Given the description of an element on the screen output the (x, y) to click on. 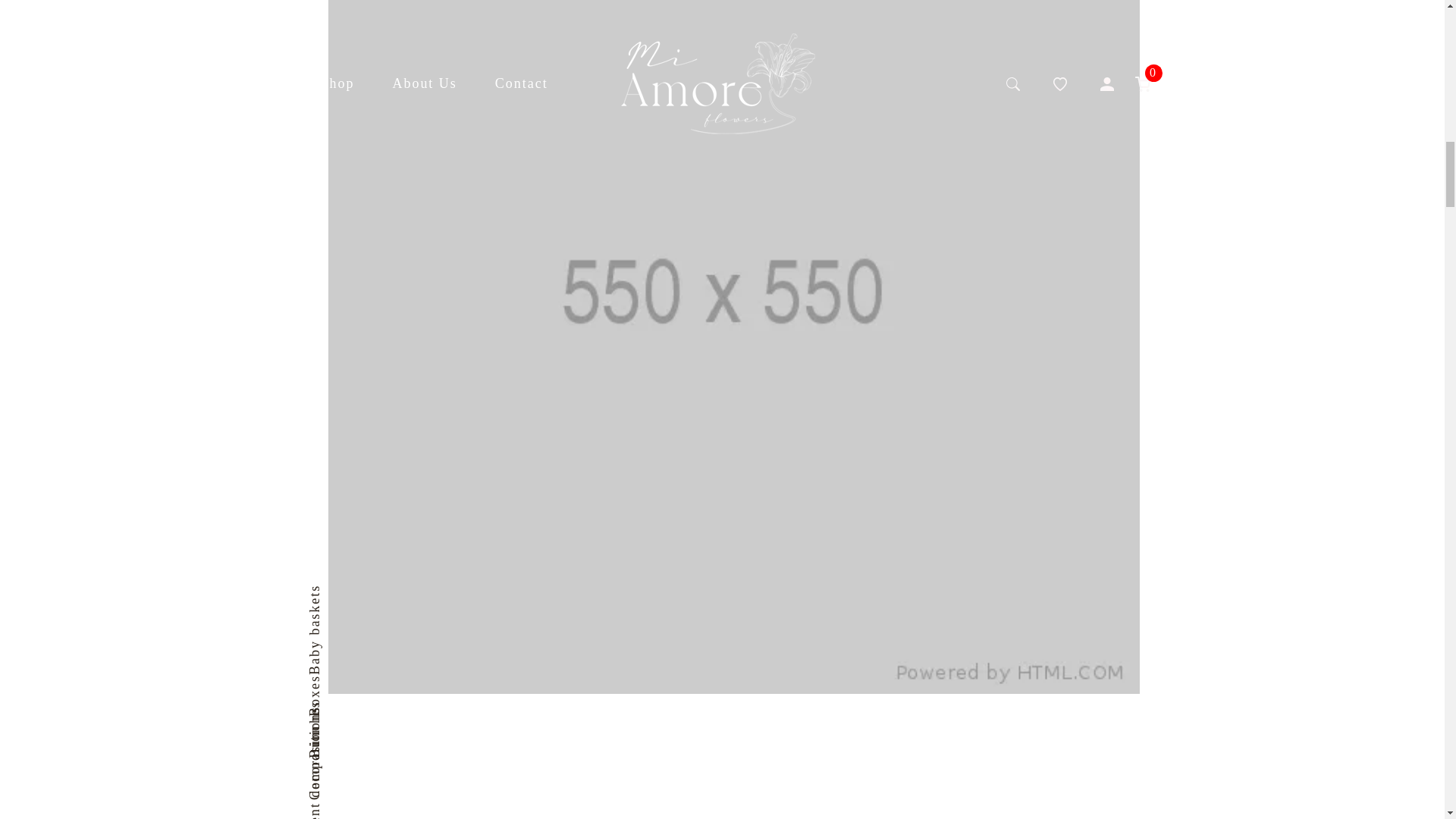
Boxes (325, 683)
Bunches (333, 710)
Event decoration (363, 733)
Baby baskets (349, 593)
Compositions (351, 714)
